Given the description of an element on the screen output the (x, y) to click on. 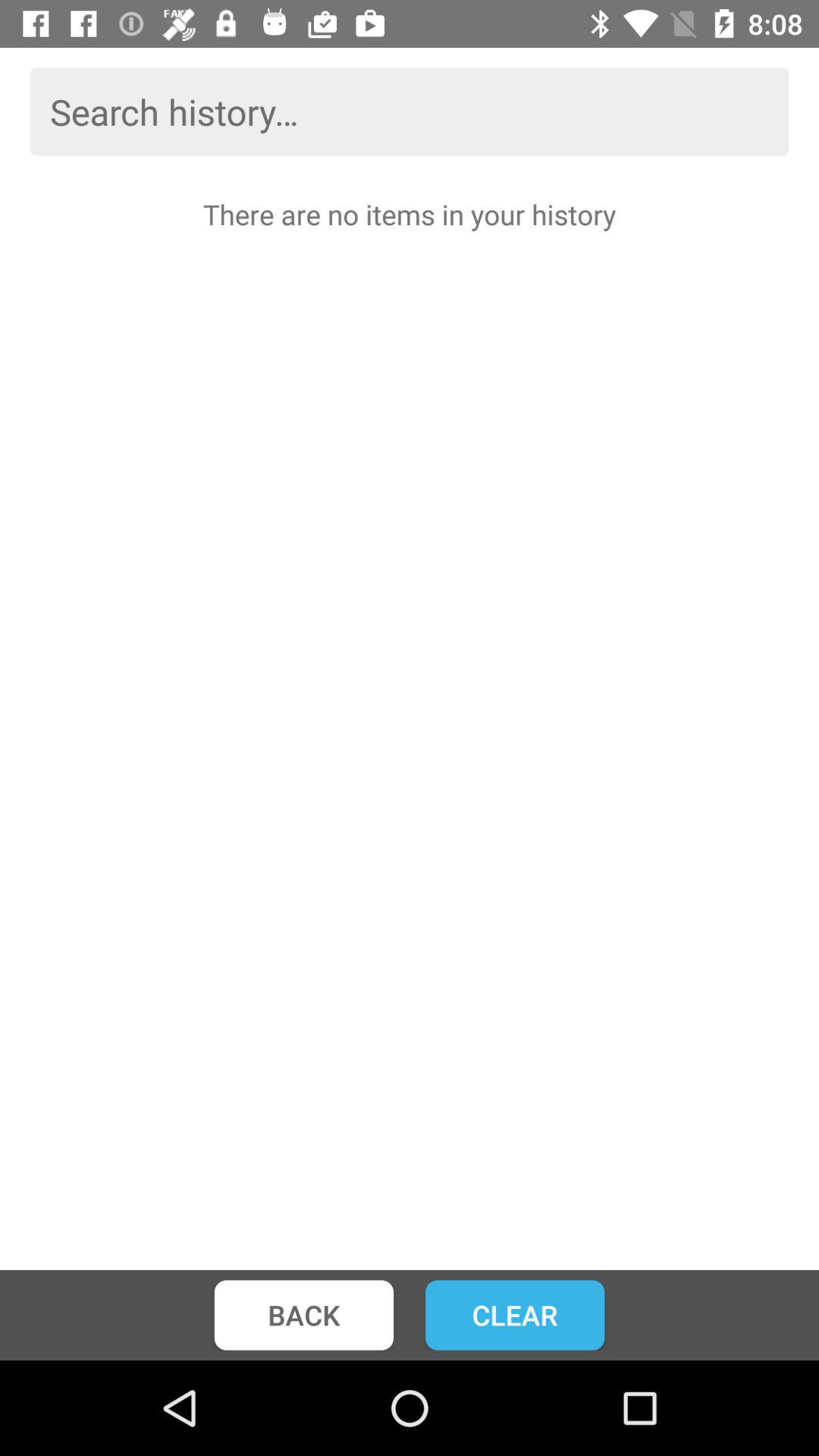
select the icon below there are no icon (303, 1315)
